Given the description of an element on the screen output the (x, y) to click on. 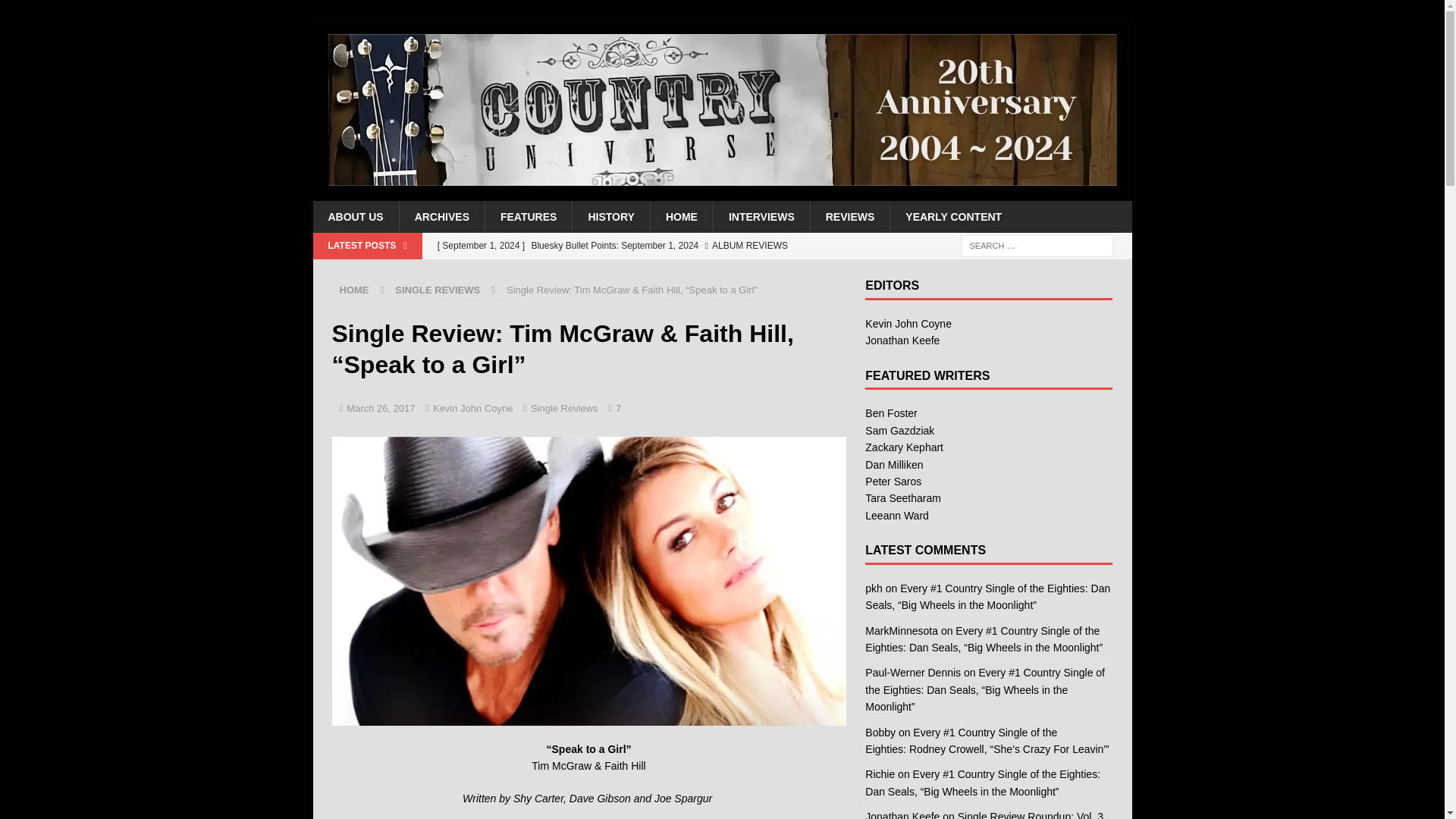
HISTORY (610, 216)
ARCHIVES (441, 216)
ABOUT US (355, 216)
REVIEWS (849, 216)
Bluesky Bullet Points: September 1, 2024 (637, 245)
INTERVIEWS (761, 216)
HOME (681, 216)
FEATURES (528, 216)
